Given the description of an element on the screen output the (x, y) to click on. 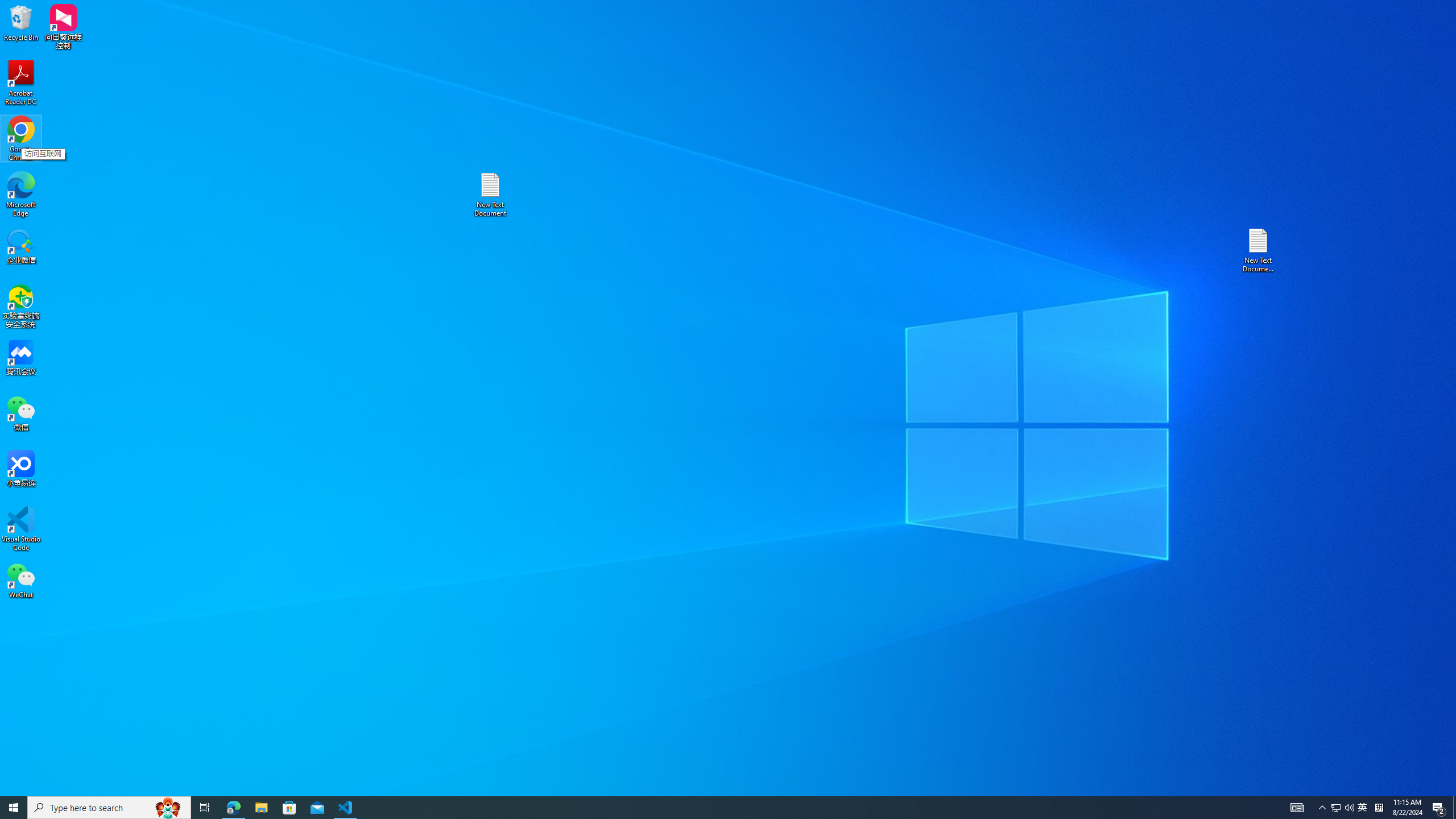
Show desktop (1454, 807)
AutomationID: 4105 (1297, 807)
Microsoft Store (289, 807)
Type here to search (108, 807)
Visual Studio Code (21, 528)
Visual Studio Code - 1 running window (1335, 807)
Acrobat Reader DC (345, 807)
